Given the description of an element on the screen output the (x, y) to click on. 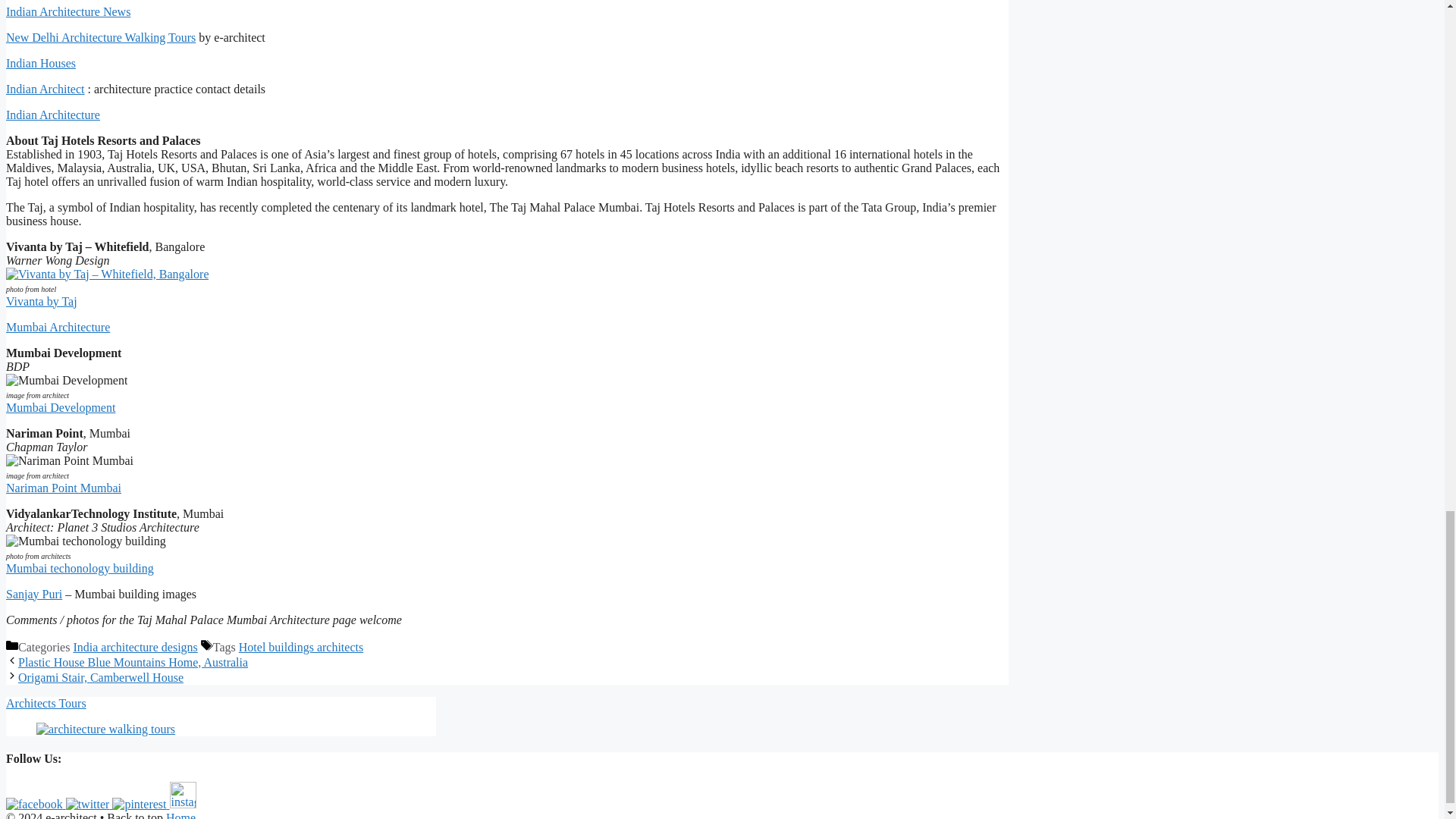
linkedin (138, 804)
Scroll back to top (1406, 139)
facebook (33, 804)
instagram (183, 795)
twitter (87, 804)
